Given the description of an element on the screen output the (x, y) to click on. 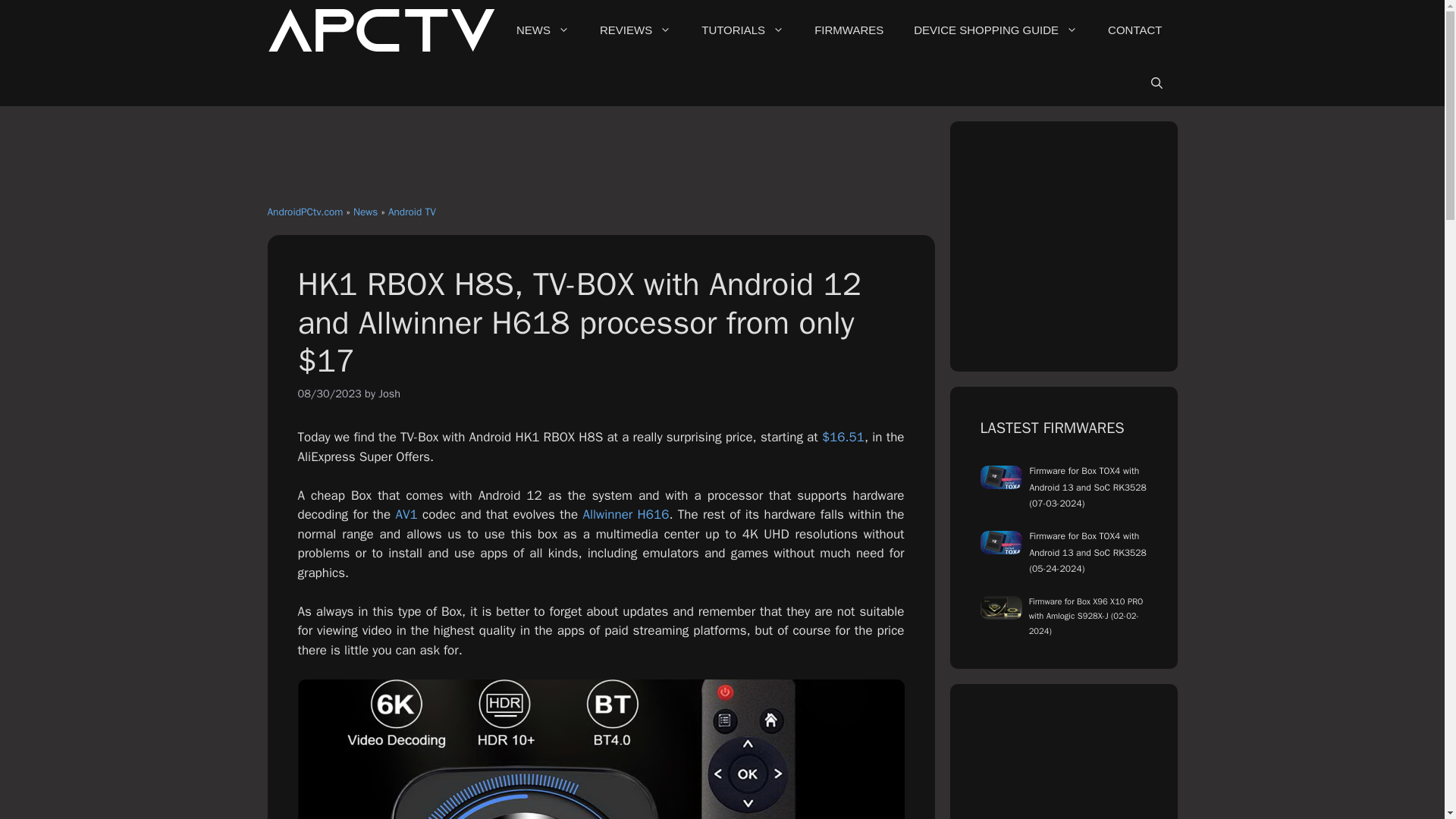
View all posts by Josh (389, 393)
HK1 RBOX H8S android H618 (600, 749)
AndroidPCtv (380, 30)
